Given the description of an element on the screen output the (x, y) to click on. 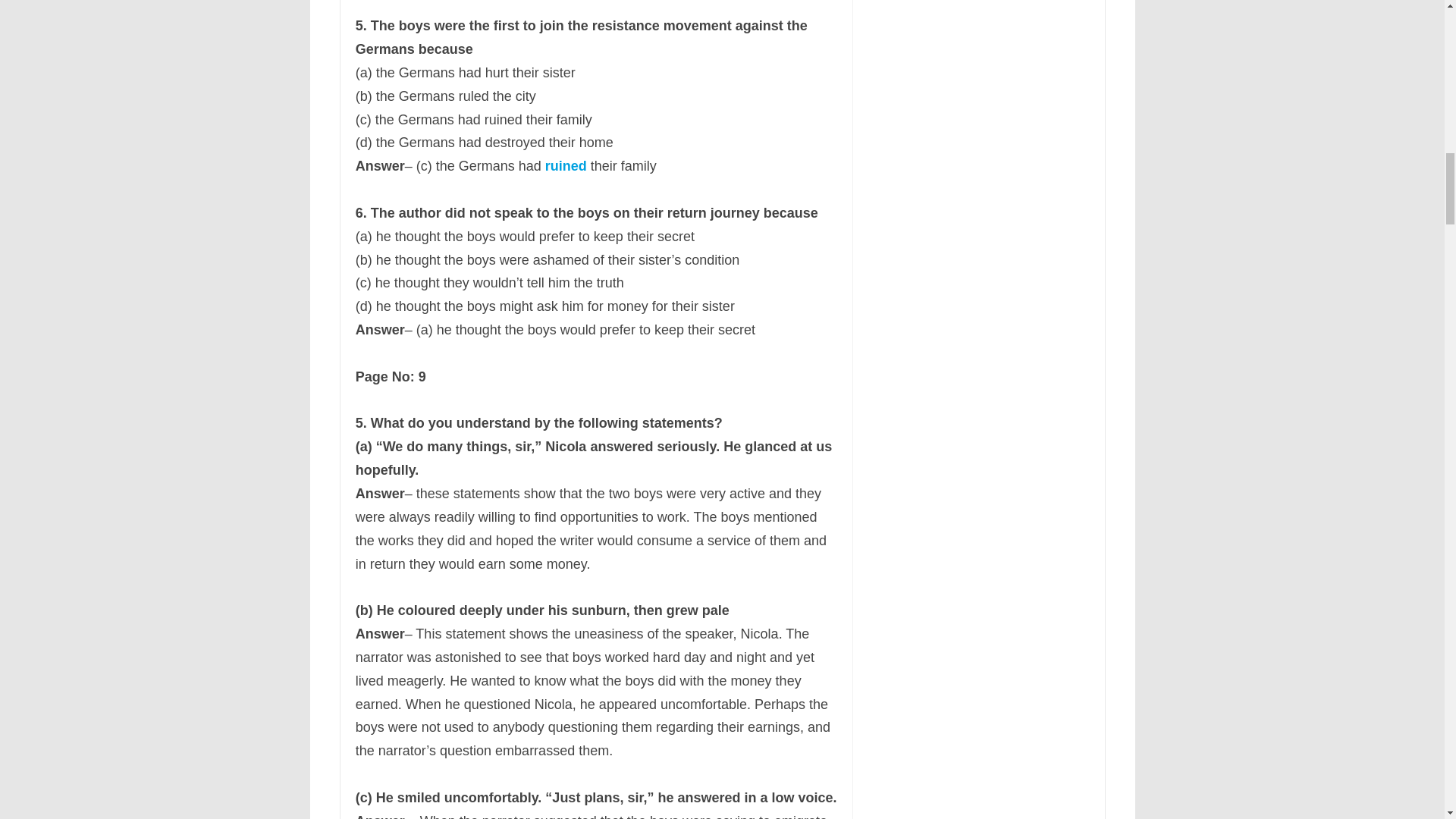
ruined (565, 165)
